Given the description of an element on the screen output the (x, y) to click on. 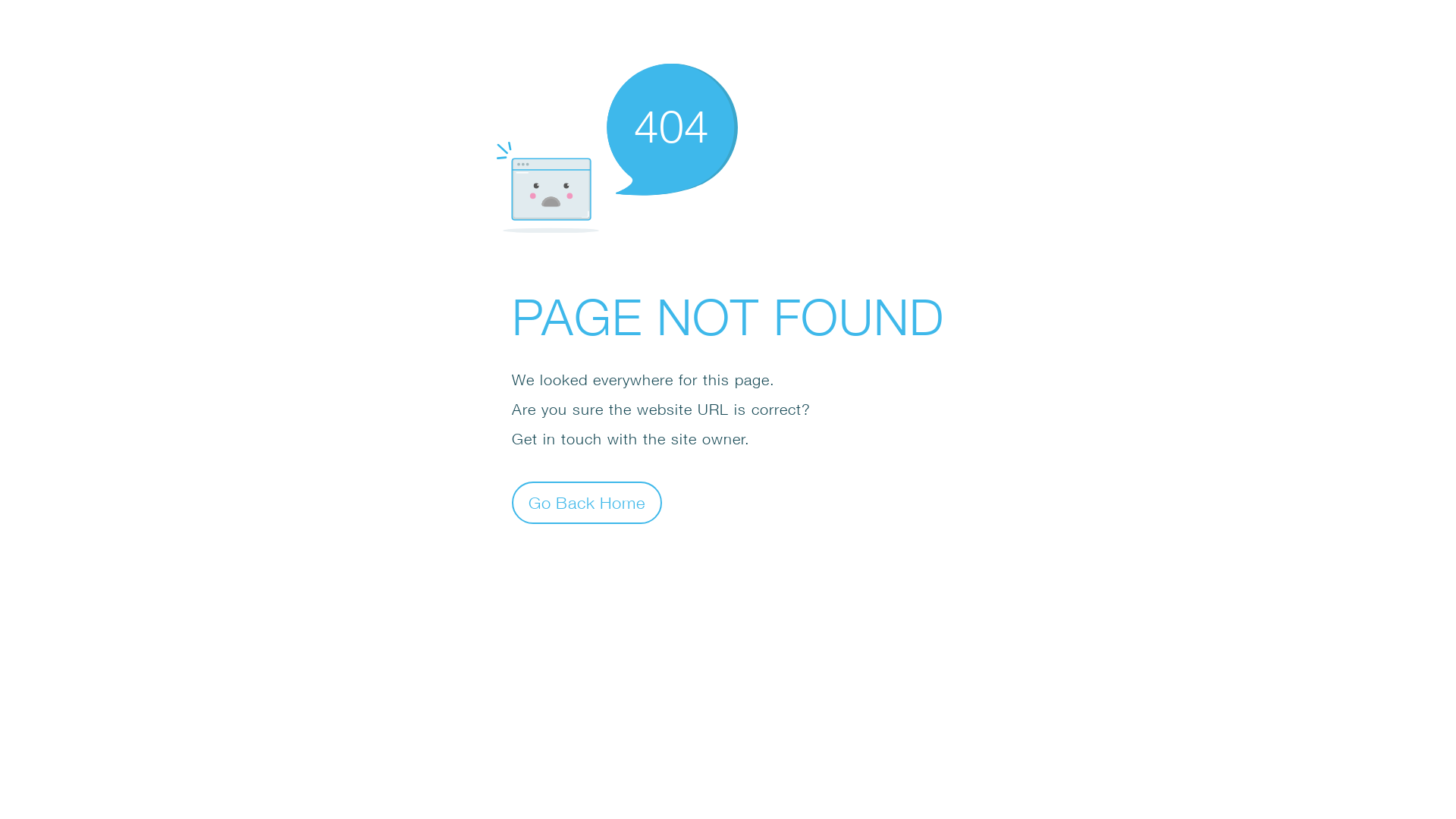
Go Back Home Element type: text (586, 502)
